Given the description of an element on the screen output the (x, y) to click on. 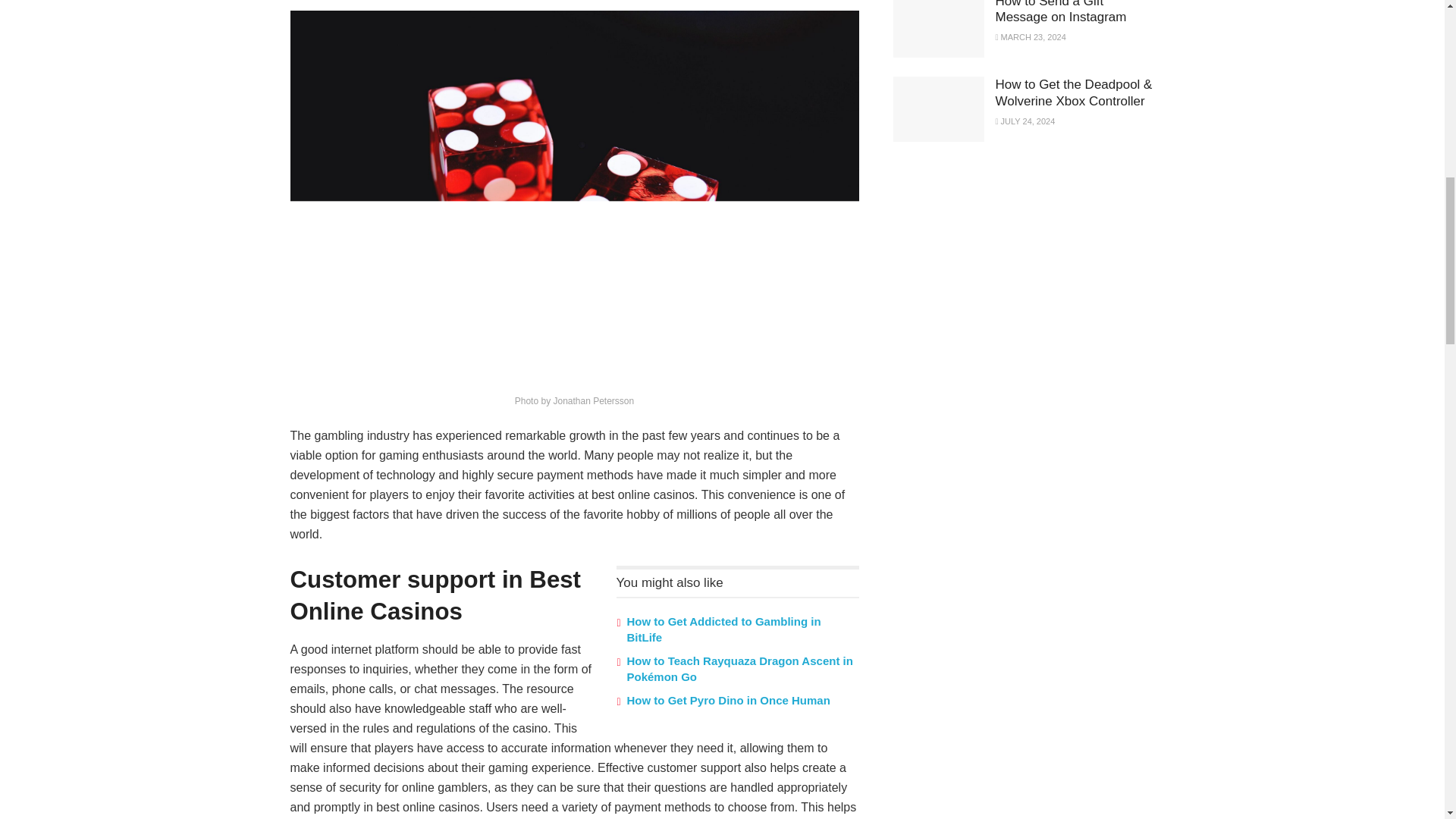
Advertisement (1007, 266)
